Given the description of an element on the screen output the (x, y) to click on. 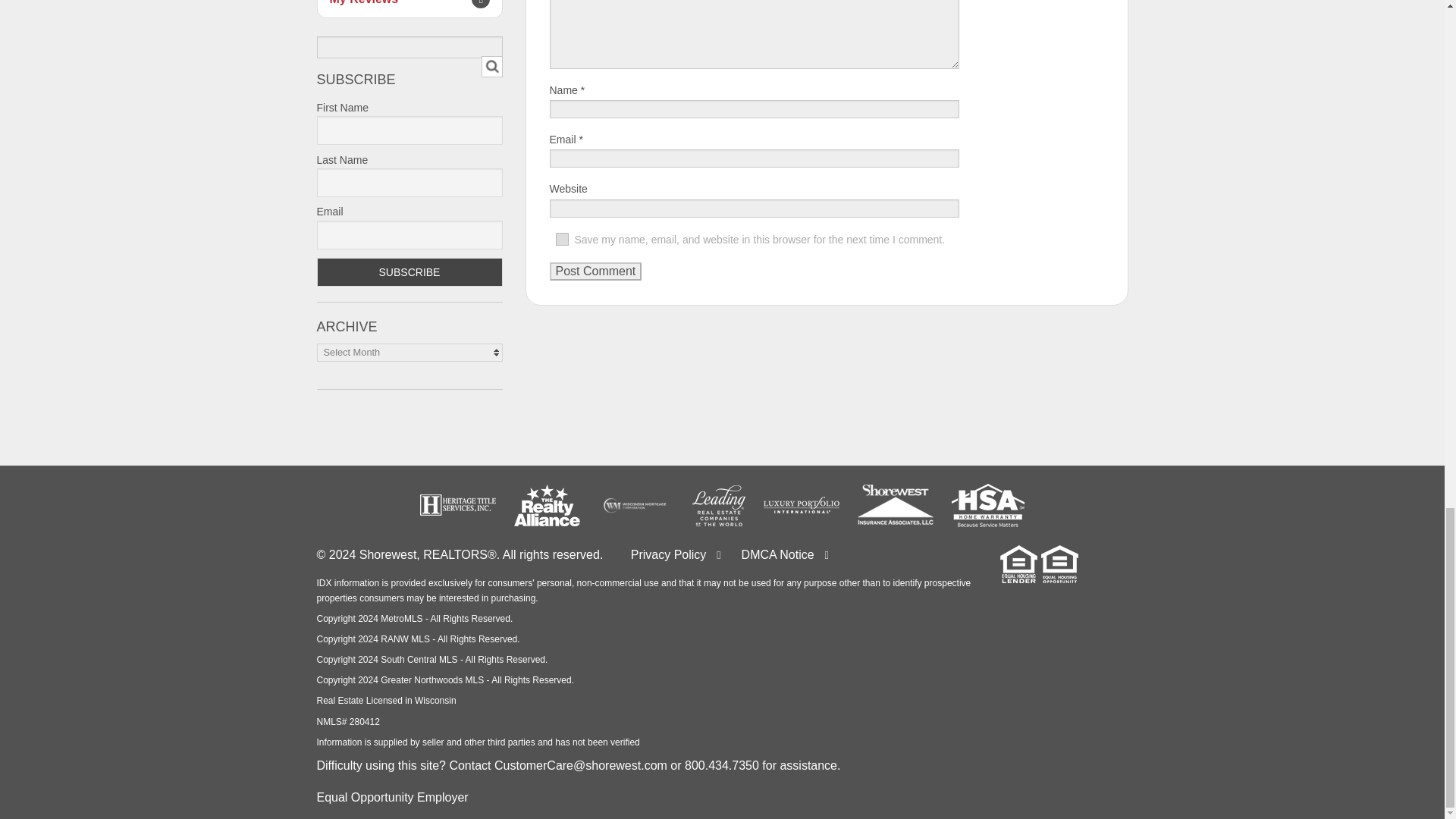
Search (491, 65)
Post Comment (595, 271)
Post Comment (595, 271)
SUBSCRIBE (409, 271)
